Given the description of an element on the screen output the (x, y) to click on. 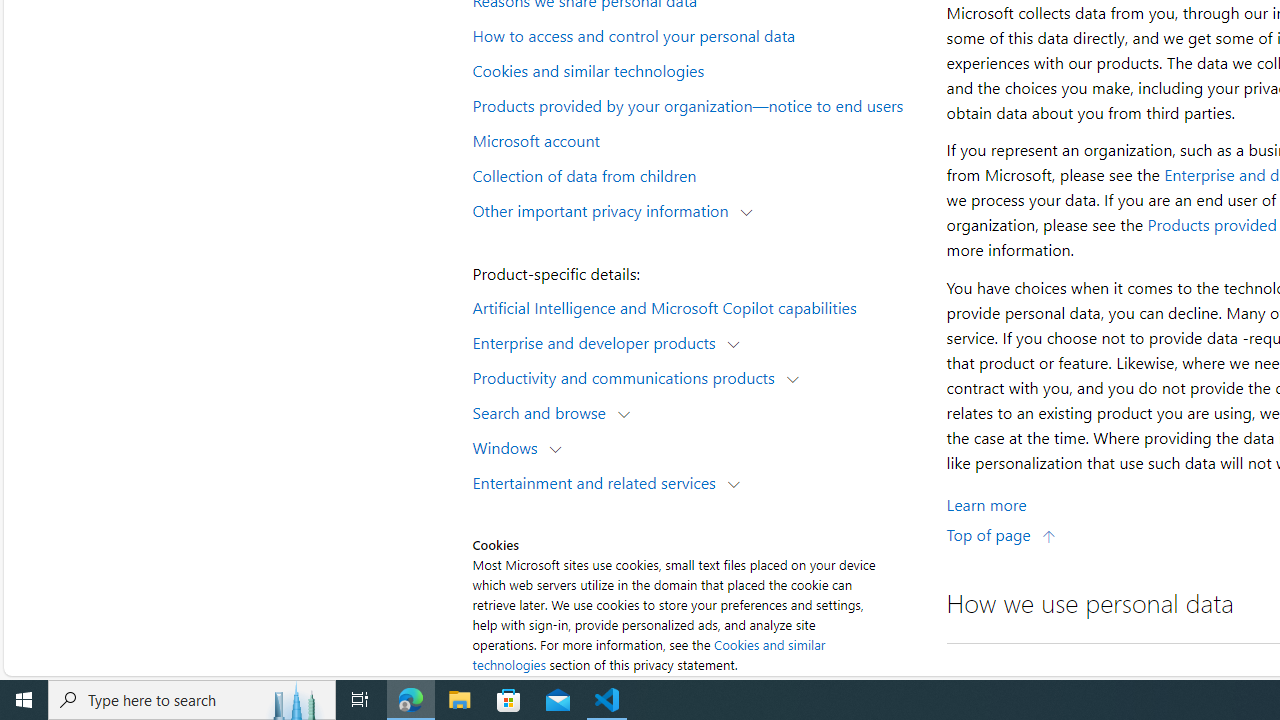
Cookies and similar technologies (696, 69)
